Given the description of an element on the screen output the (x, y) to click on. 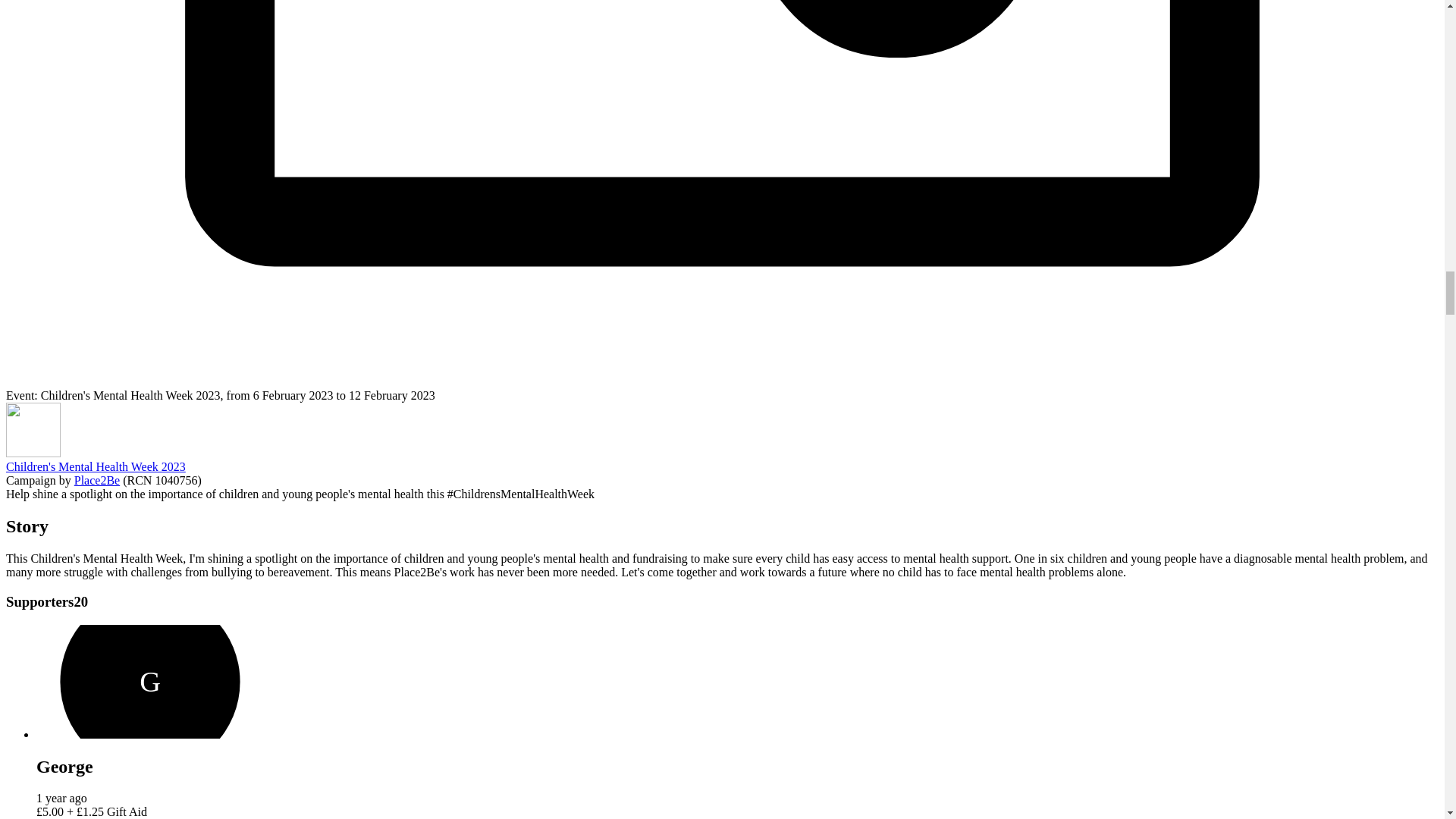
Children's Mental Health Week 2023 (95, 466)
G (149, 681)
Place2Be (96, 480)
